Given the description of an element on the screen output the (x, y) to click on. 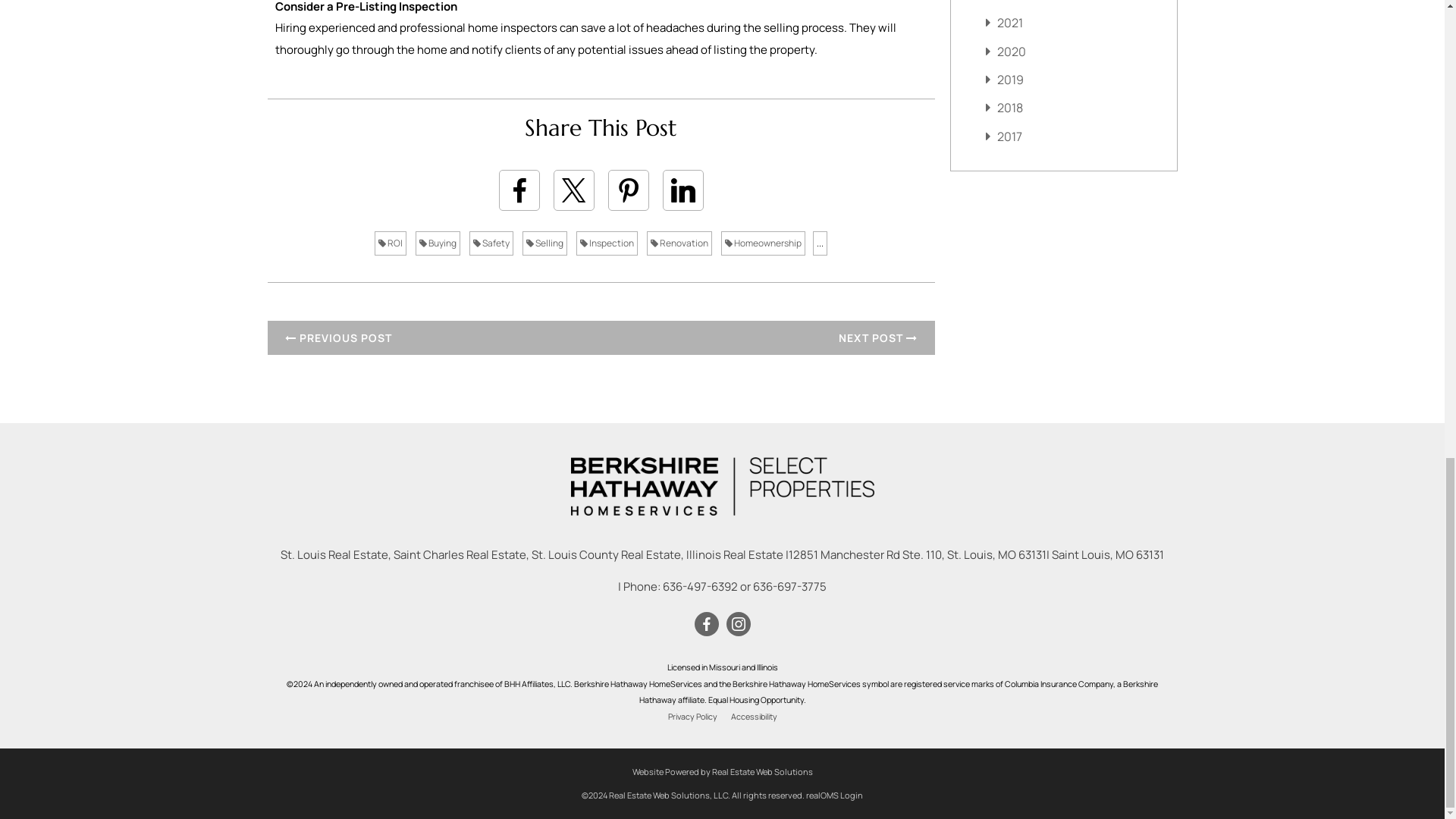
Visit us on Instagram (737, 623)
Share on Facebook (519, 189)
Share on Linked In (682, 189)
Visit us on Facebook (705, 623)
Share on X (573, 189)
Share on Pinterest (628, 189)
